Given the description of an element on the screen output the (x, y) to click on. 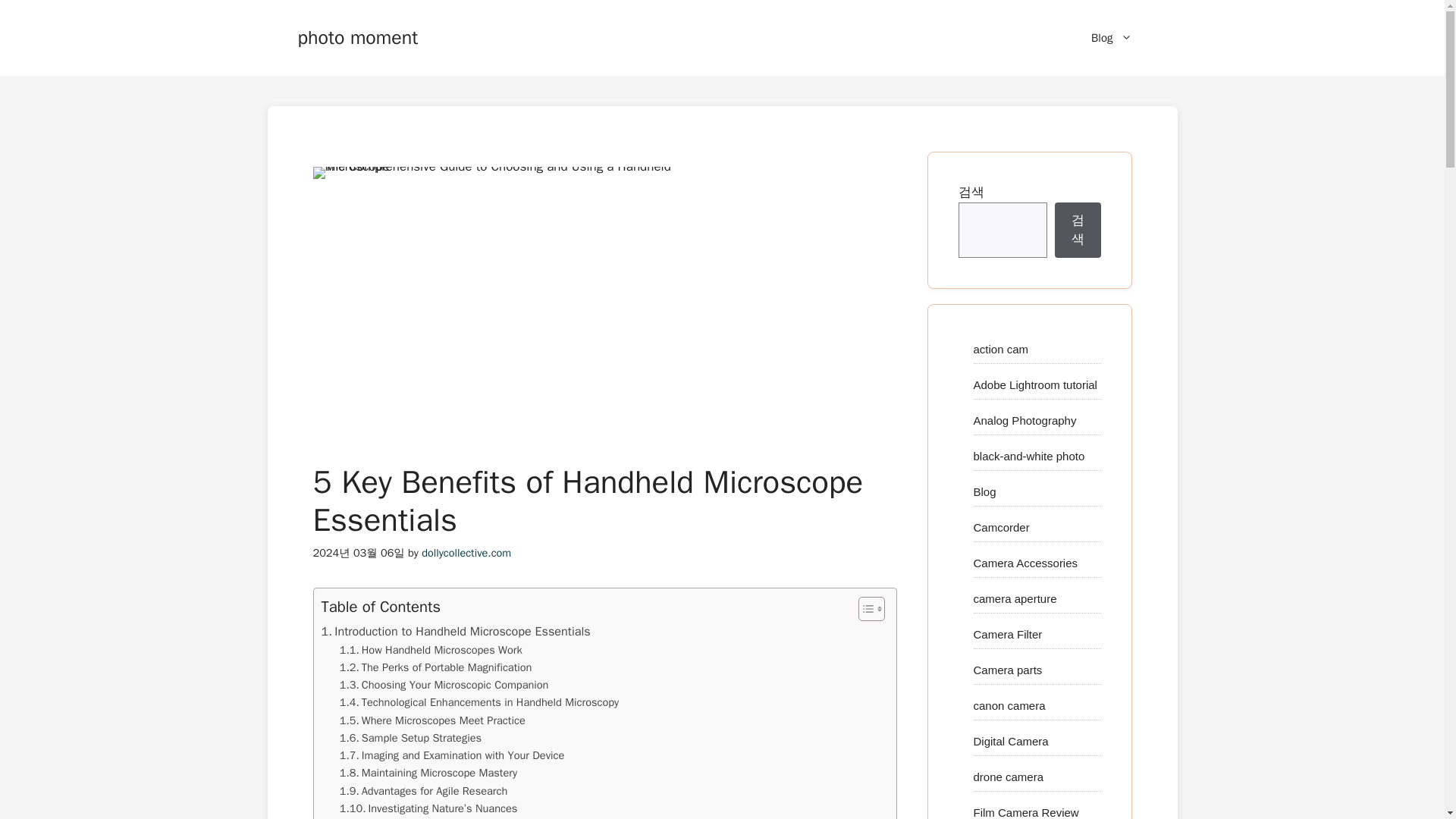
Choosing Your Microscopic Companion (443, 684)
Sample Setup Strategies (410, 737)
Advantages for Agile Research (423, 791)
Sample Setup Strategies (410, 737)
The Perks of Portable Magnification (435, 667)
photo moment (357, 37)
Where Microscopes Meet Practice (432, 720)
Choosing Your Microscopic Companion (443, 684)
The Perks of Portable Magnification (435, 667)
Technological Enhancements in Handheld Microscopy (479, 702)
